Given the description of an element on the screen output the (x, y) to click on. 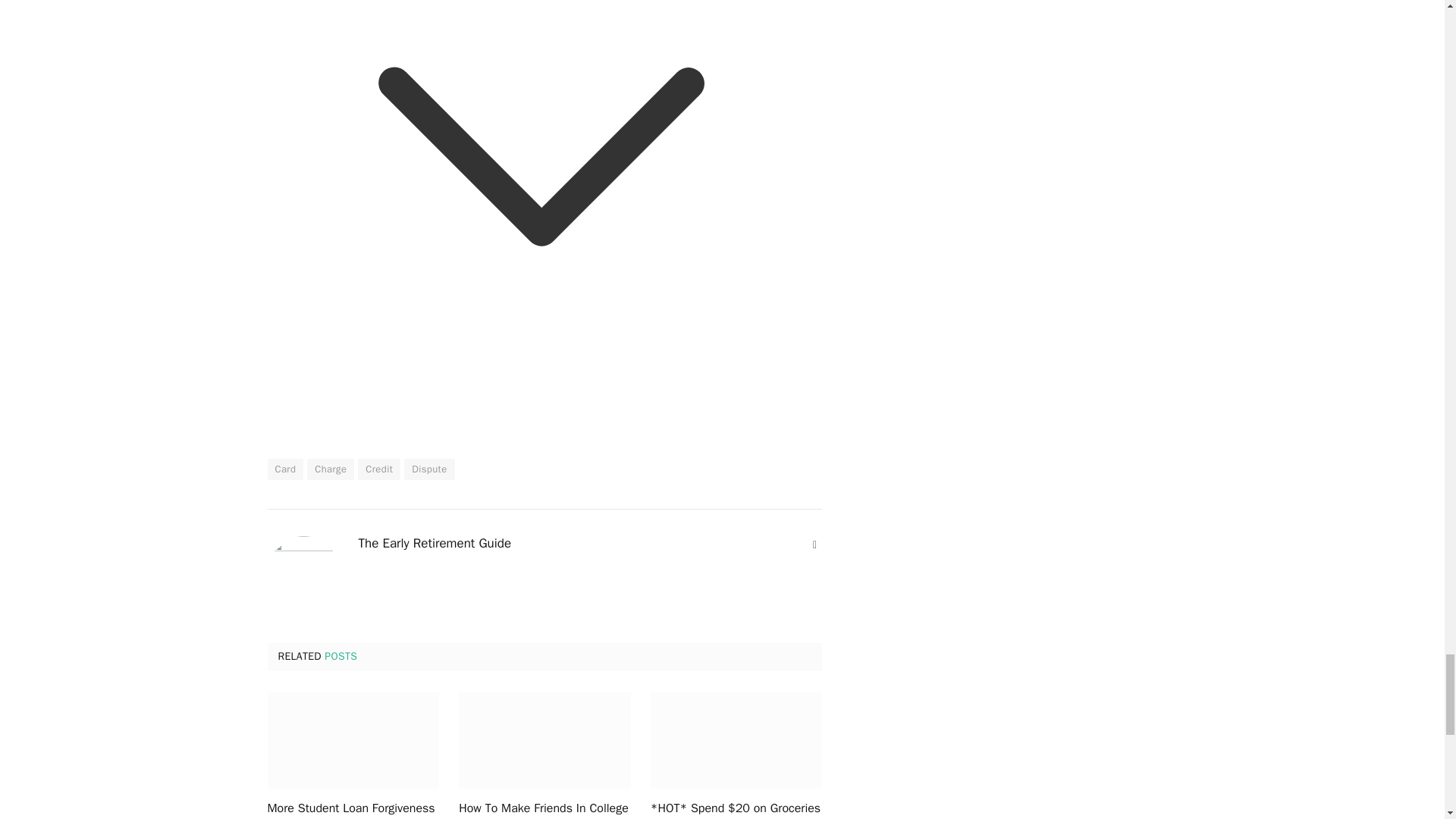
How To Make Friends In College (544, 740)
More Student Loan Forgiveness Coming for Longtime Borrowers (352, 740)
Posts by The Early Retirement Guide (434, 543)
Website (814, 544)
Dispute (429, 468)
Card (284, 468)
Credit (379, 468)
Charge (330, 468)
